Given the description of an element on the screen output the (x, y) to click on. 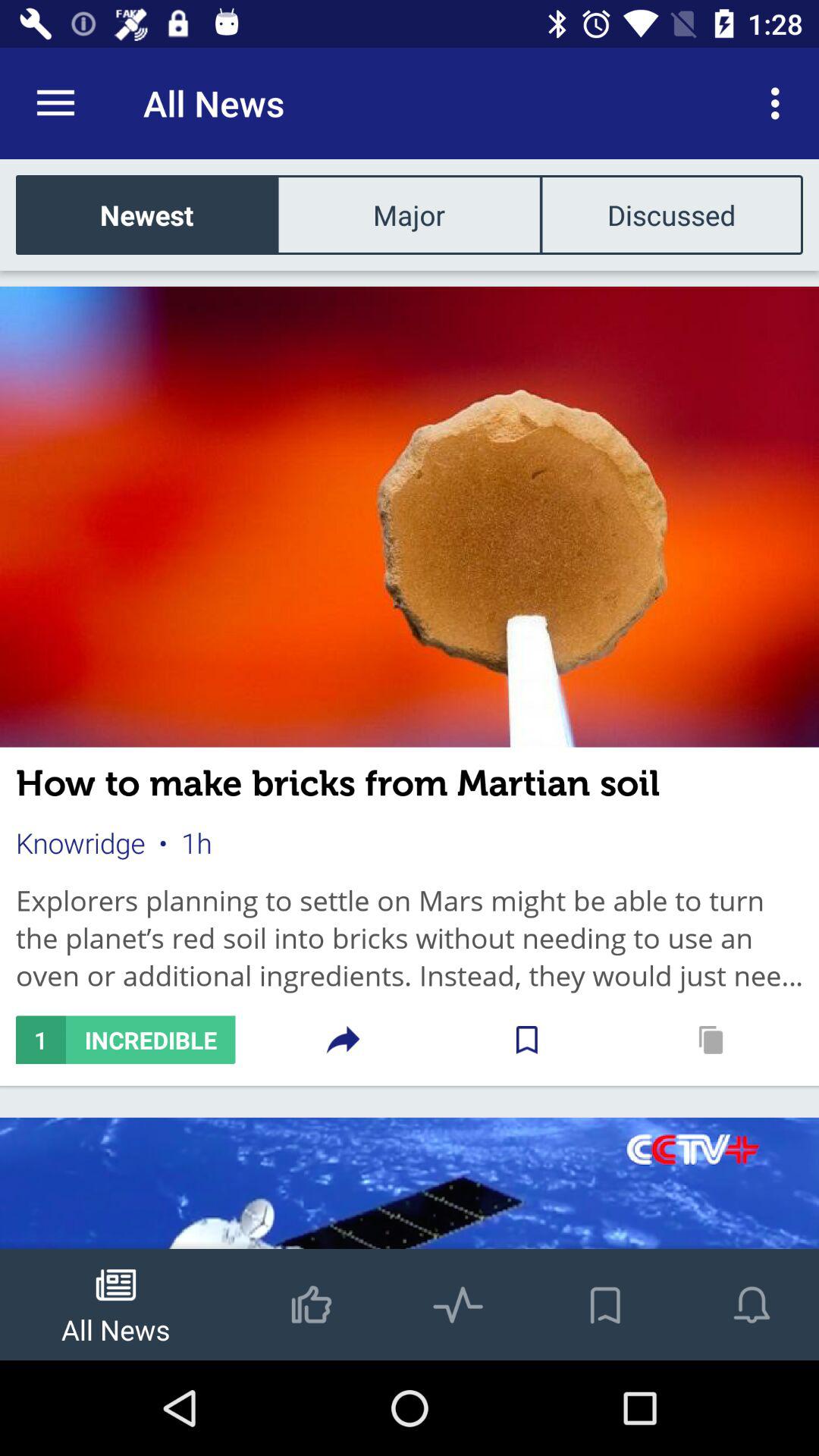
select the major item (409, 214)
